Given the description of an element on the screen output the (x, y) to click on. 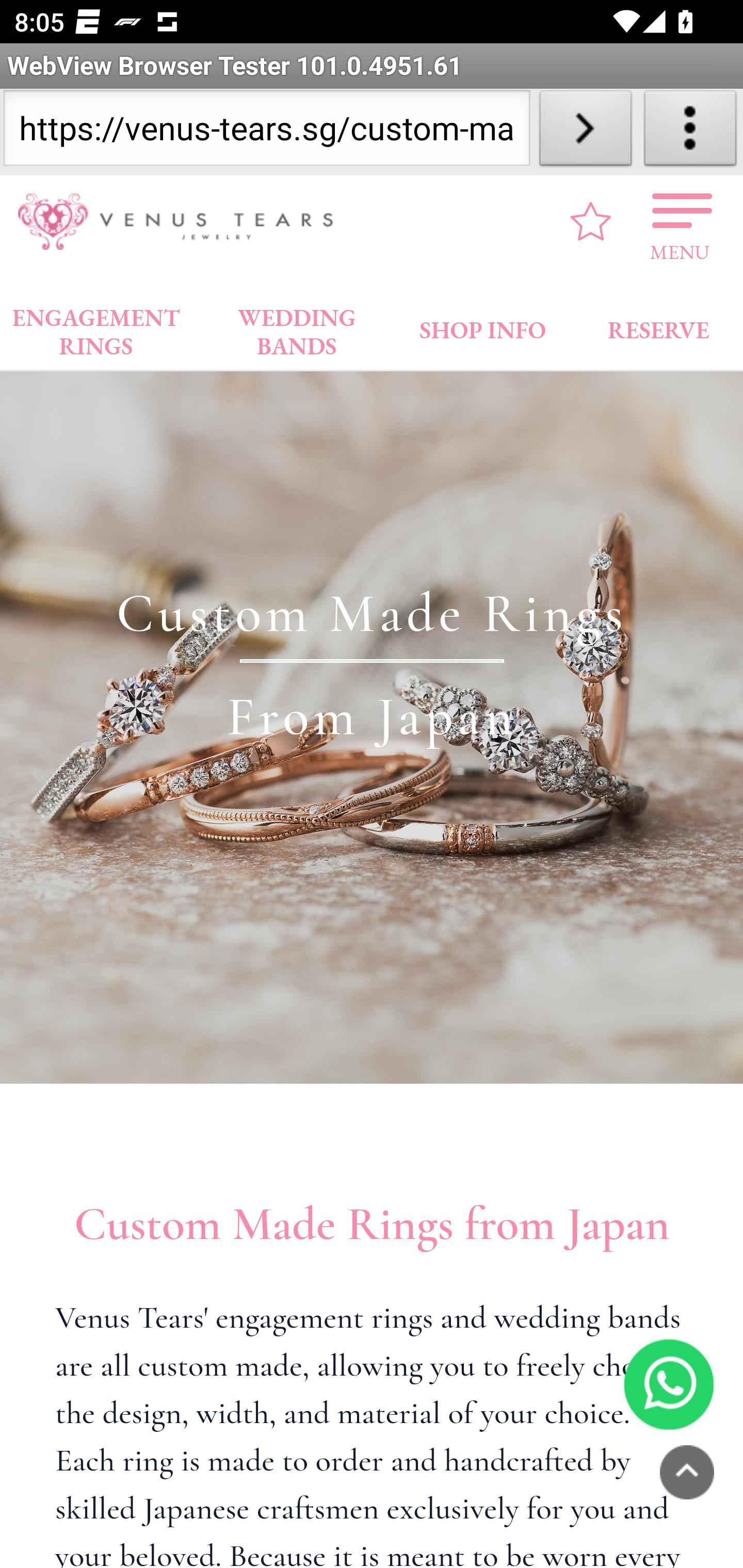
https://venus-tears.sg/custom-made-rings (266, 132)
Load URL (585, 132)
About WebView (690, 132)
favourite (591, 220)
MENU (680, 220)
VENUS TEARS (181, 221)
ENGAGEMENT RINGS ENGAGEMENT RINGS (96, 326)
WEDDING BANDS WEDDING BANDS (296, 326)
SHOP INFO (482, 325)
RESERVE (657, 325)
6585184875 (668, 1383)
PAGETOP (686, 1472)
